Given the description of an element on the screen output the (x, y) to click on. 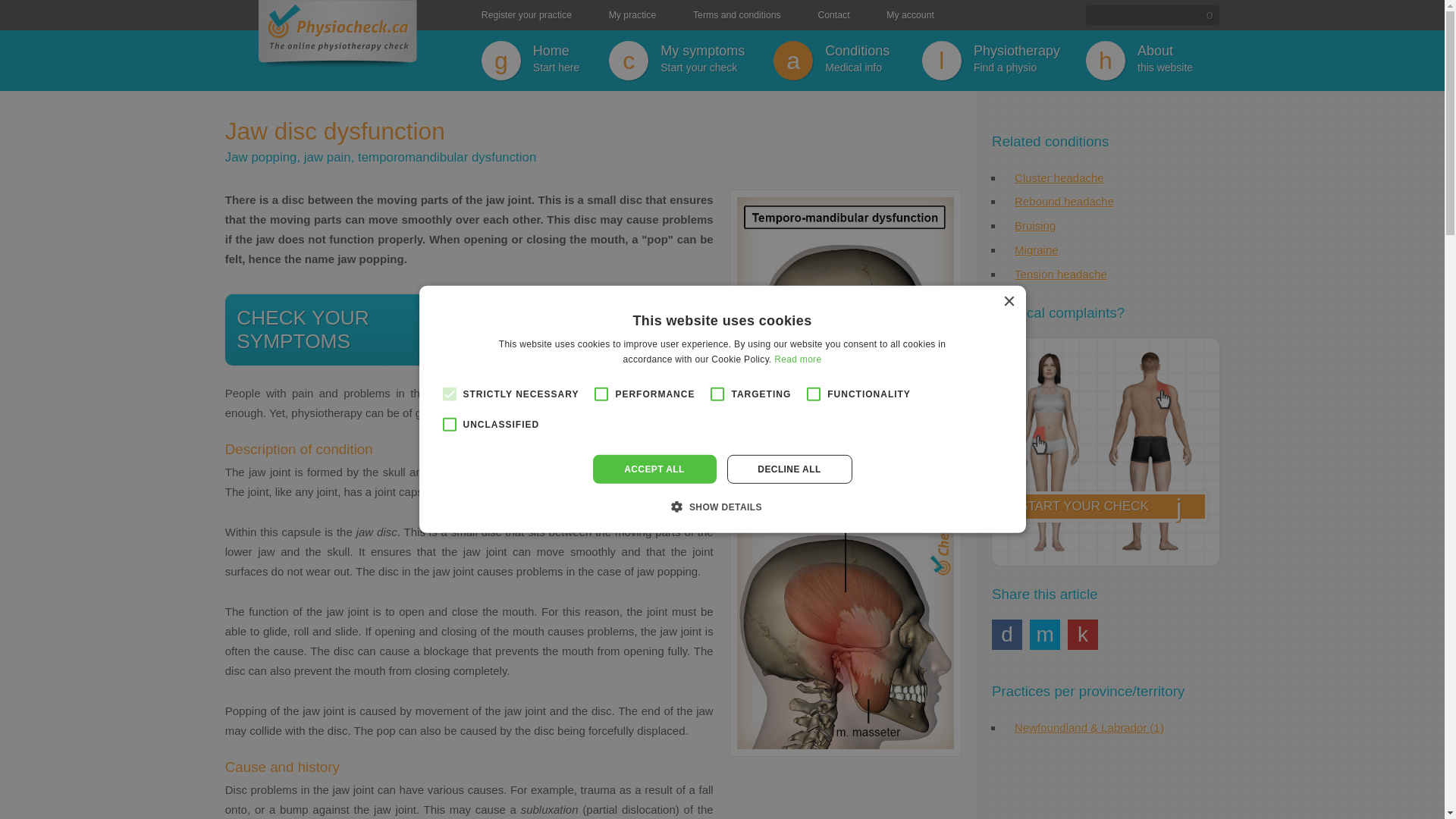
START YOUR CHECK (1105, 453)
Rebound headache (596, 329)
Terms and conditions (1063, 201)
Bruising (690, 60)
My practice (736, 15)
Share on Twitter (1034, 225)
Share on Facebook (632, 15)
Contact (1044, 634)
Tension headache (1006, 634)
Register your practice (832, 15)
